Given the description of an element on the screen output the (x, y) to click on. 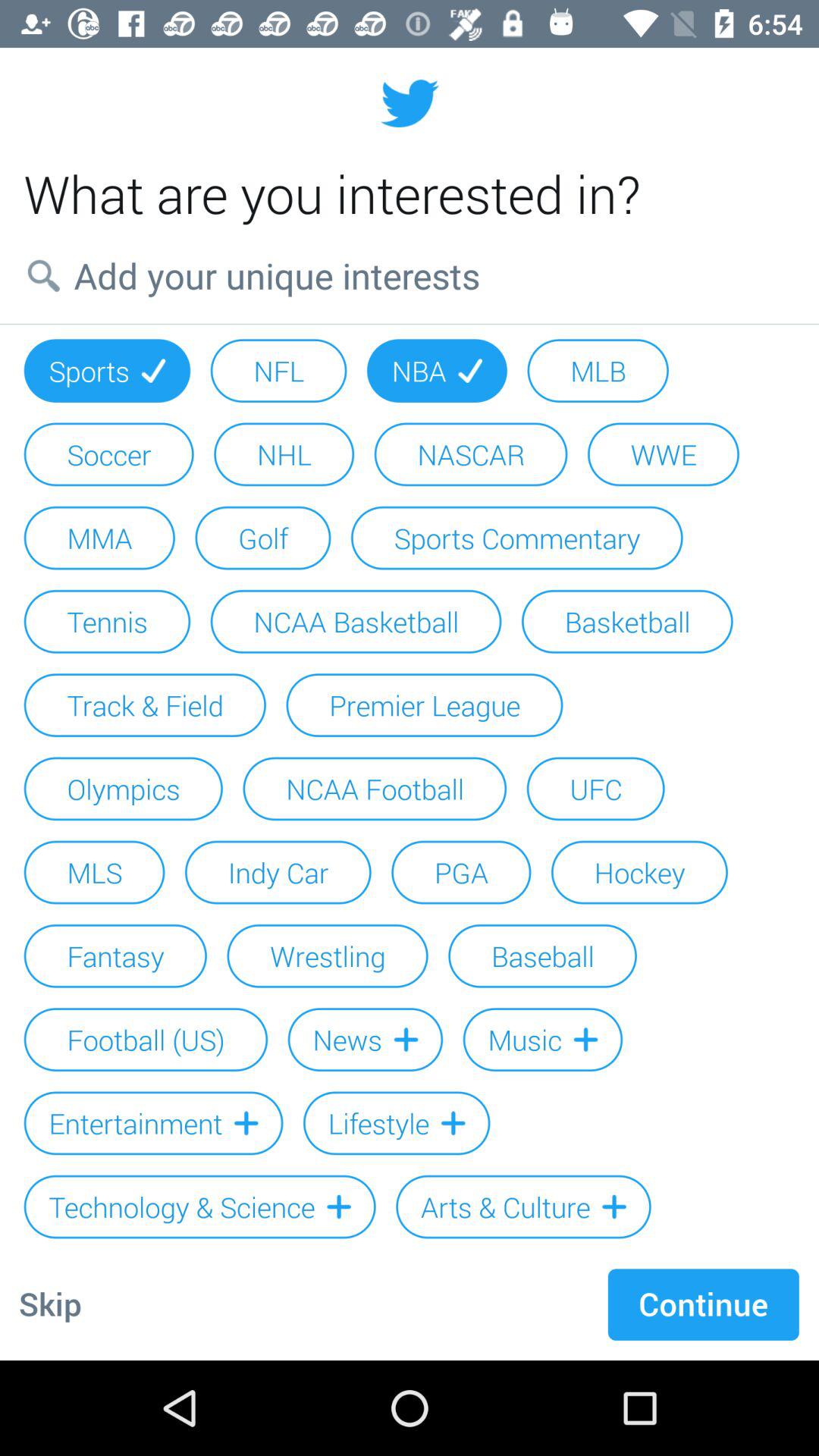
research your interests (409, 275)
